Given the description of an element on the screen output the (x, y) to click on. 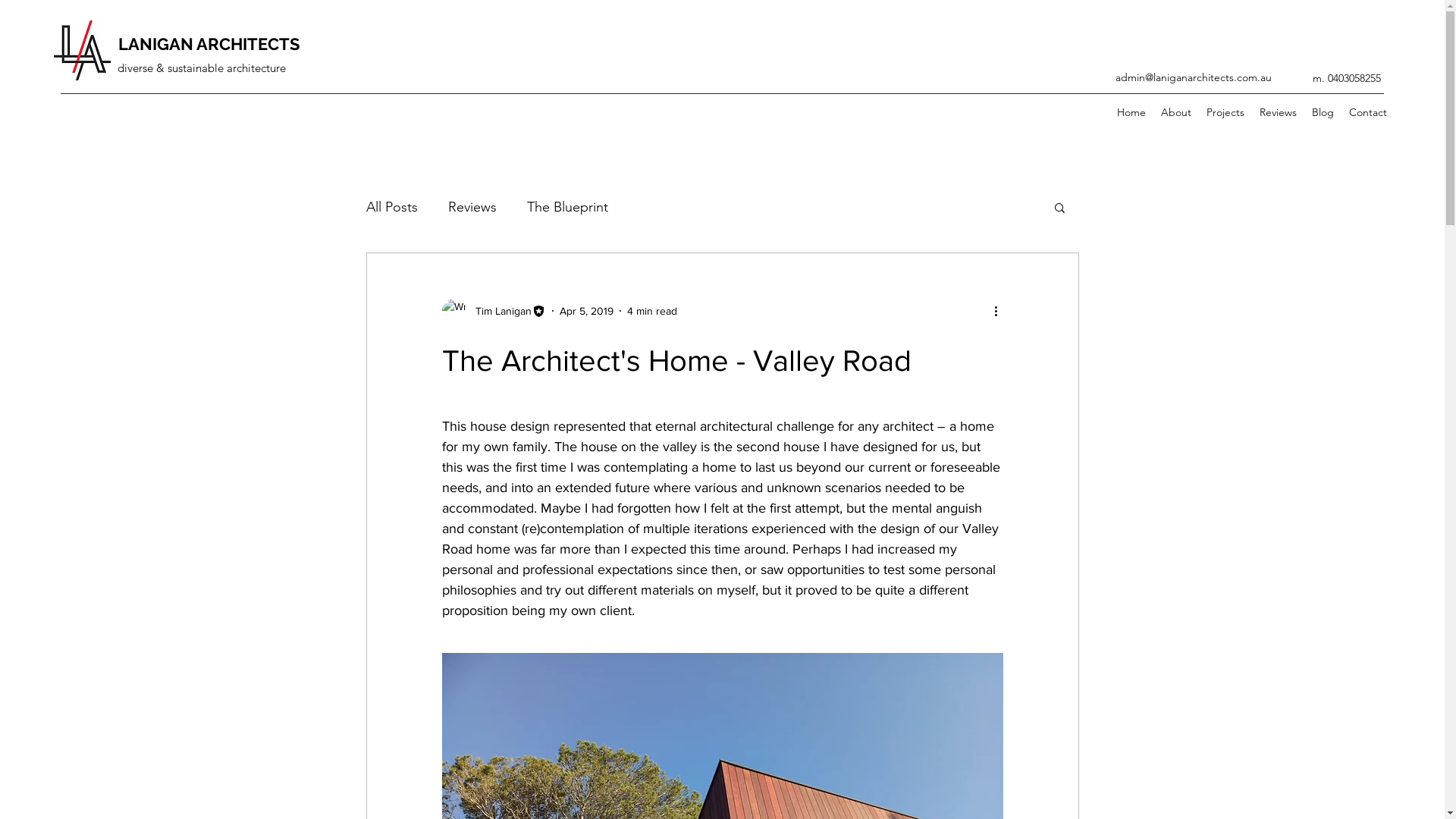
Contact Element type: text (1367, 111)
The Blueprint Element type: text (566, 206)
Blog Element type: text (1322, 111)
admin@laniganarchitects.com.au Element type: text (1193, 77)
Home Element type: text (1131, 111)
Tim Lanigan Element type: text (493, 310)
Projects Element type: text (1225, 111)
All Posts Element type: text (391, 206)
Reviews Element type: text (471, 206)
About Element type: text (1175, 111)
Reviews Element type: text (1278, 111)
